Given the description of an element on the screen output the (x, y) to click on. 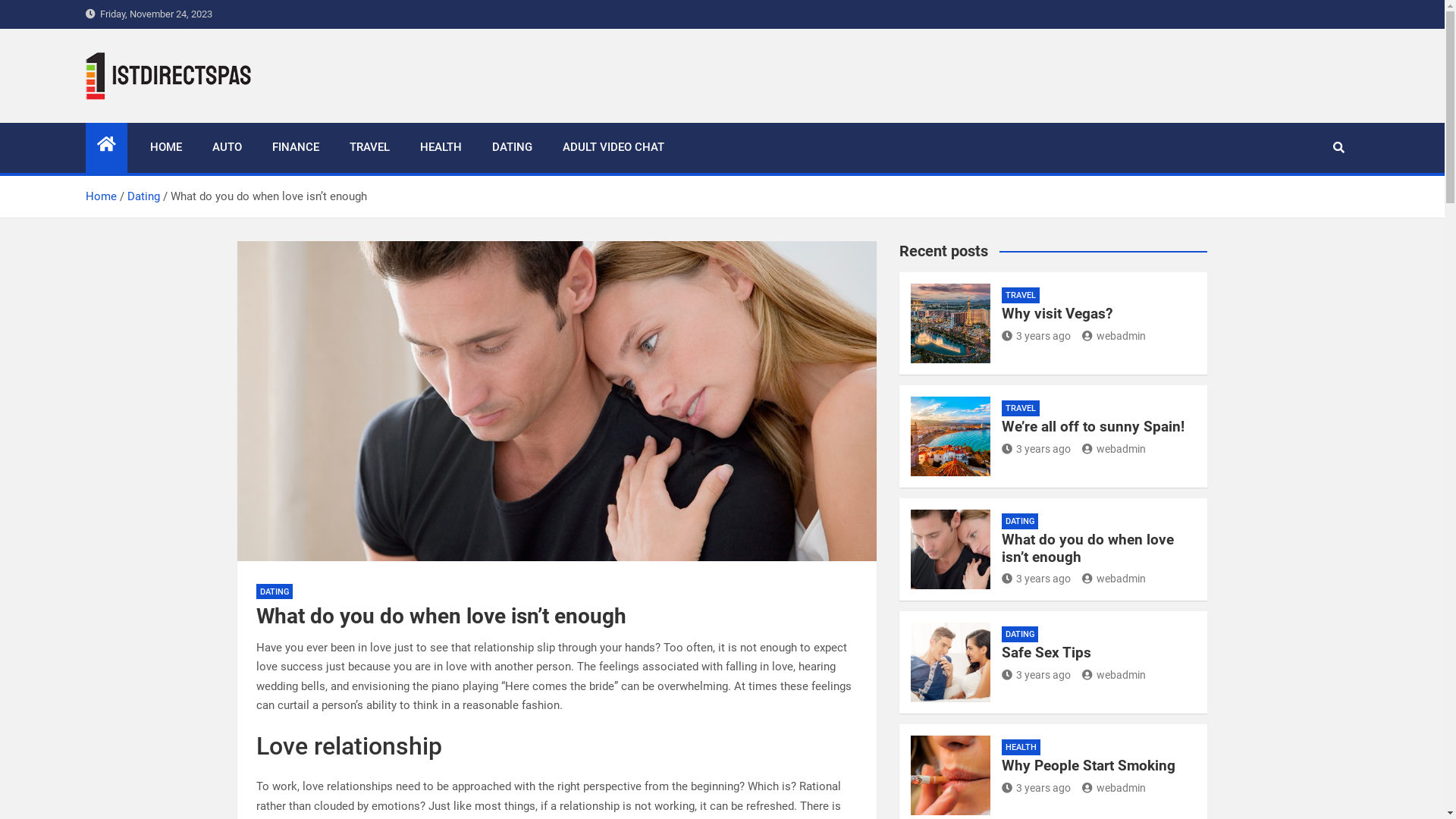
HOME Element type: text (165, 147)
ADULT VIDEO CHAT Element type: text (613, 147)
1stdirectspas Element type: text (179, 119)
Why People Start Smoking Element type: text (1088, 765)
DATING Element type: text (511, 147)
DATING Element type: text (1019, 521)
webadmin Element type: text (1113, 335)
webadmin Element type: text (1113, 787)
HEALTH Element type: text (440, 147)
TRAVEL Element type: text (1020, 295)
webadmin Element type: text (1113, 448)
Dating Element type: text (143, 196)
3 years ago Element type: text (1035, 335)
webadmin Element type: text (1113, 674)
webadmin Element type: text (1113, 578)
3 years ago Element type: text (1035, 787)
3 years ago Element type: text (1035, 674)
3 years ago Element type: text (1035, 448)
TRAVEL Element type: text (368, 147)
AUTO Element type: text (227, 147)
FINANCE Element type: text (294, 147)
HEALTH Element type: text (1020, 747)
TRAVEL Element type: text (1020, 408)
3 years ago Element type: text (1035, 578)
Skip to content Element type: text (0, 0)
Safe Sex Tips Element type: text (1046, 652)
Why visit Vegas? Element type: text (1056, 313)
DATING Element type: text (274, 591)
Home Element type: text (100, 196)
DATING Element type: text (1019, 634)
